Given the description of an element on the screen output the (x, y) to click on. 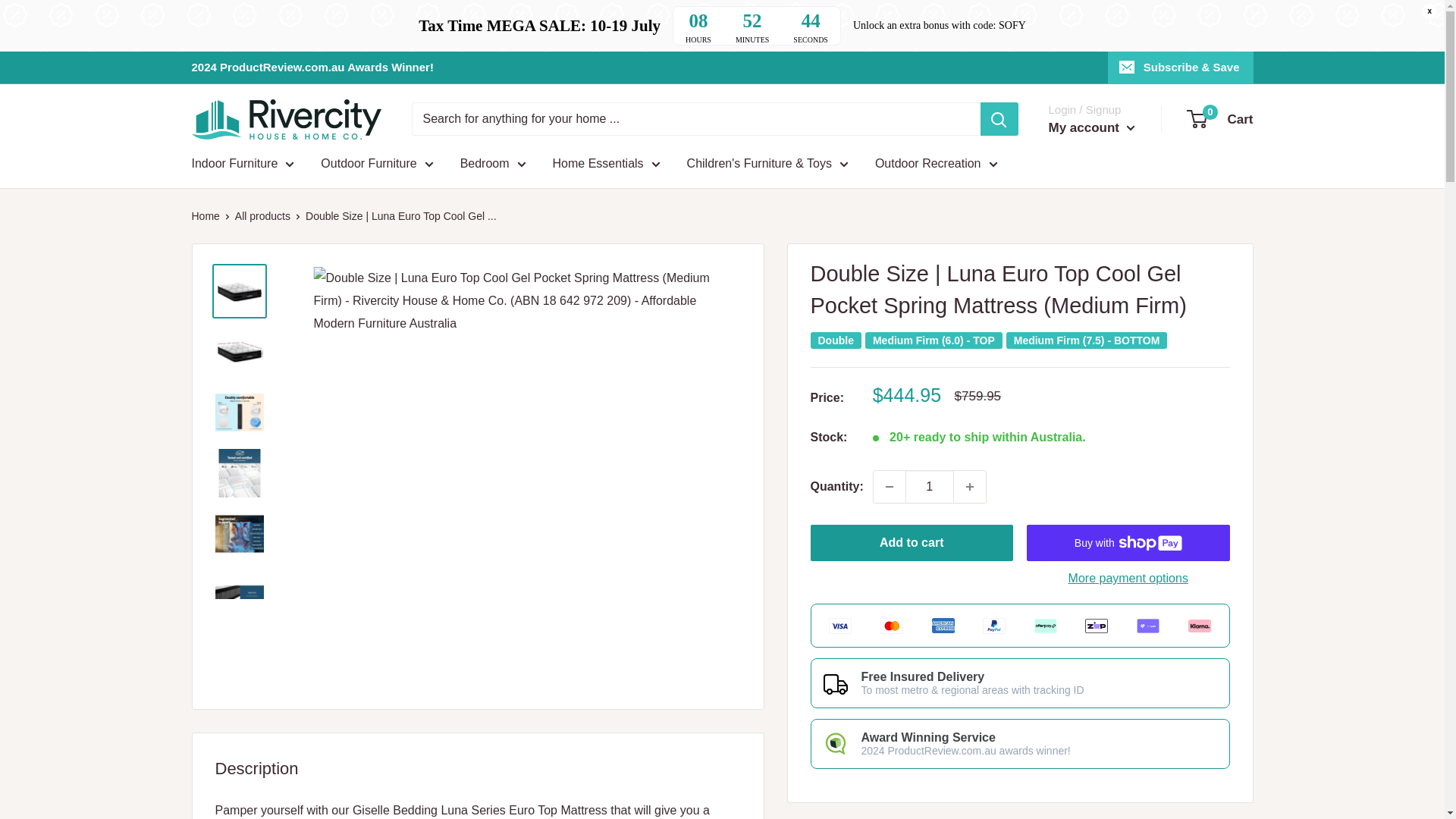
x (1429, 11)
Decrease quantity by 1 (889, 486)
Increase quantity by 1 (969, 486)
1 (929, 486)
